Given the description of an element on the screen output the (x, y) to click on. 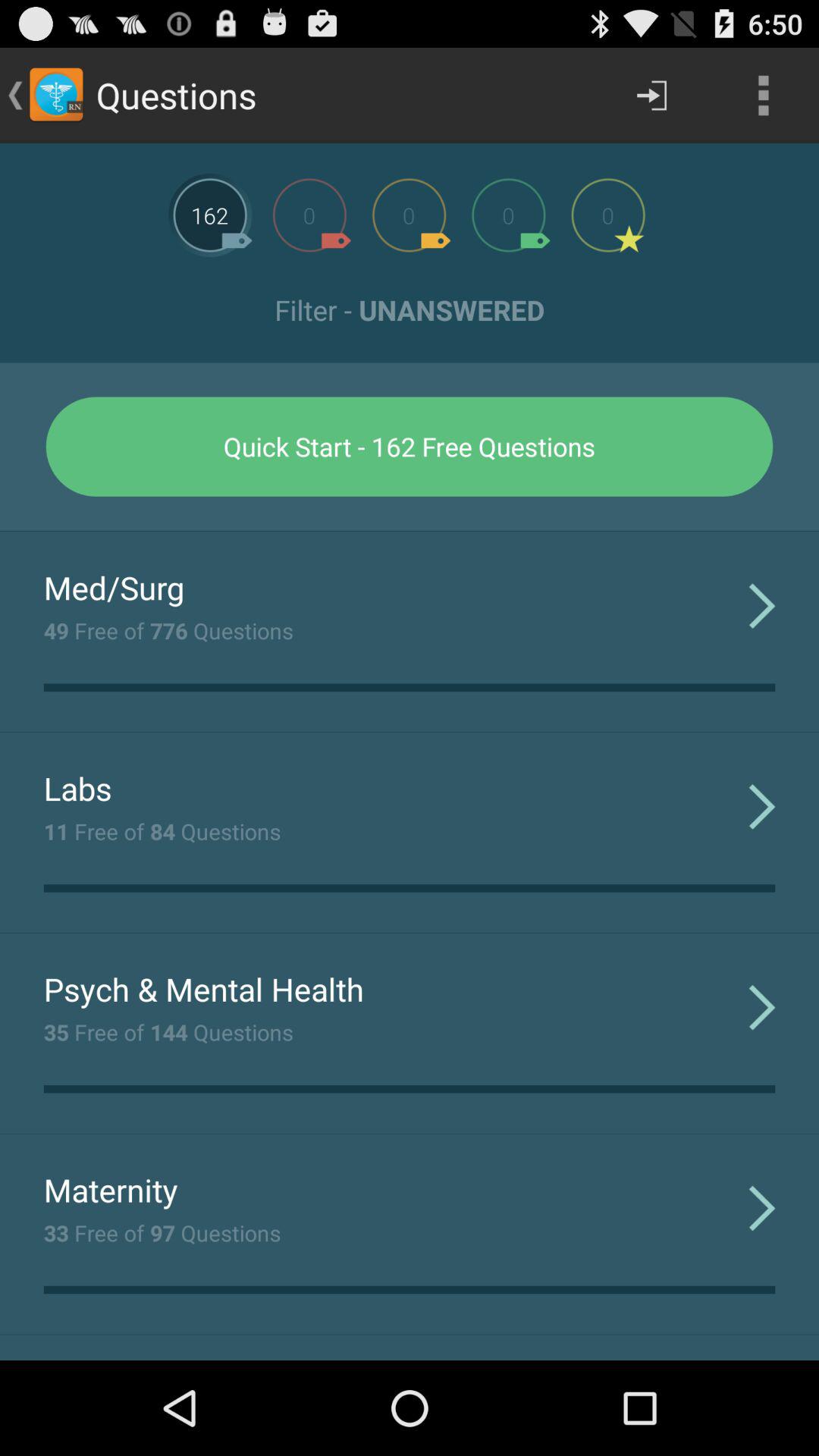
turn on the item above 11 free of icon (77, 787)
